Given the description of an element on the screen output the (x, y) to click on. 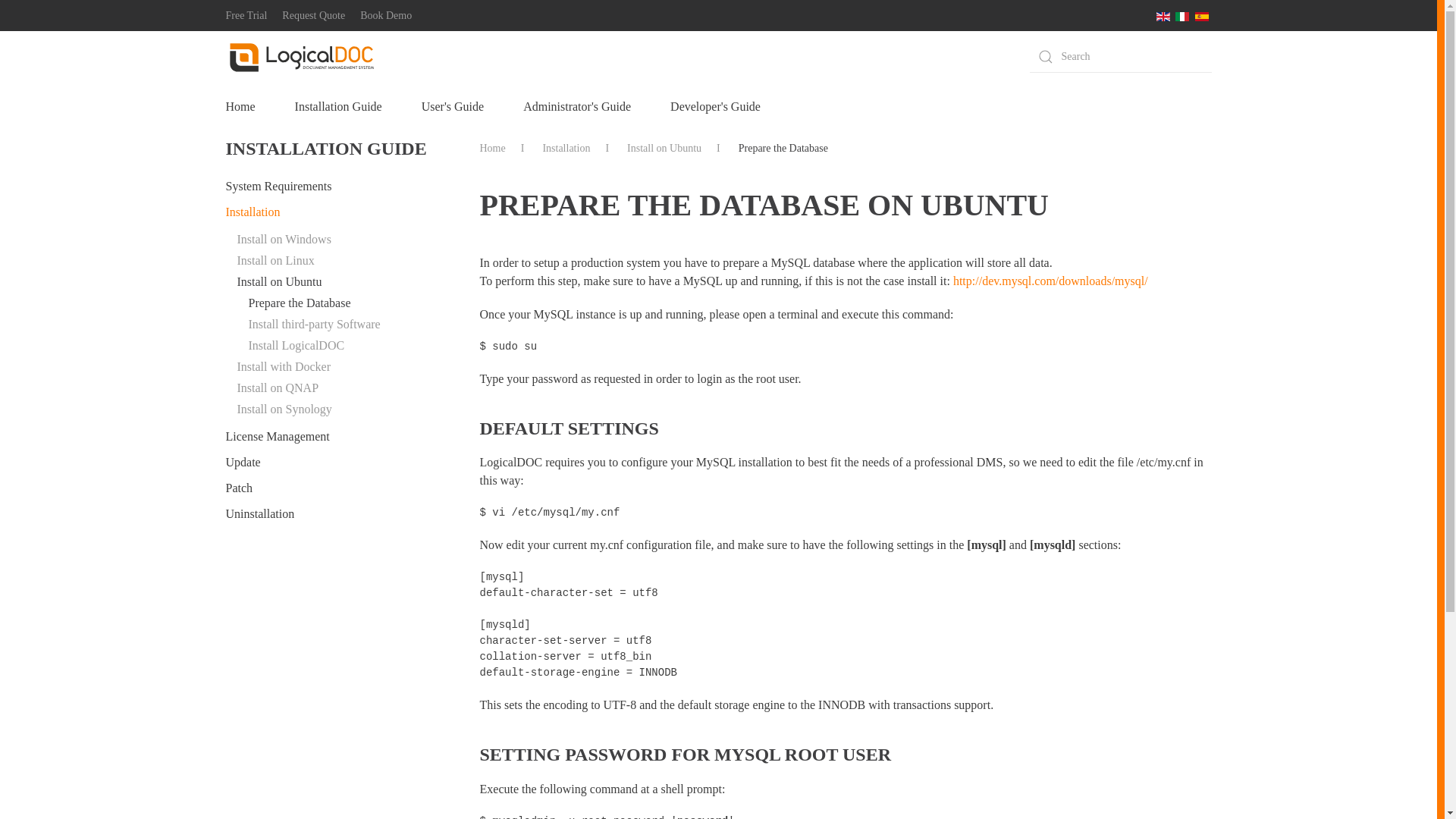
Free Trial (246, 15)
Home (492, 147)
Install on Linux (341, 260)
Install third-party Software (348, 323)
Installation Guide (338, 106)
Developer's Guide (714, 106)
Update (337, 462)
Patch (337, 488)
Book Demo (385, 15)
Install LogicalDOC (348, 345)
System Requirements (337, 186)
Install on Ubuntu (341, 281)
Installation (337, 212)
License Management (337, 436)
Uninstallation (337, 514)
